Given the description of an element on the screen output the (x, y) to click on. 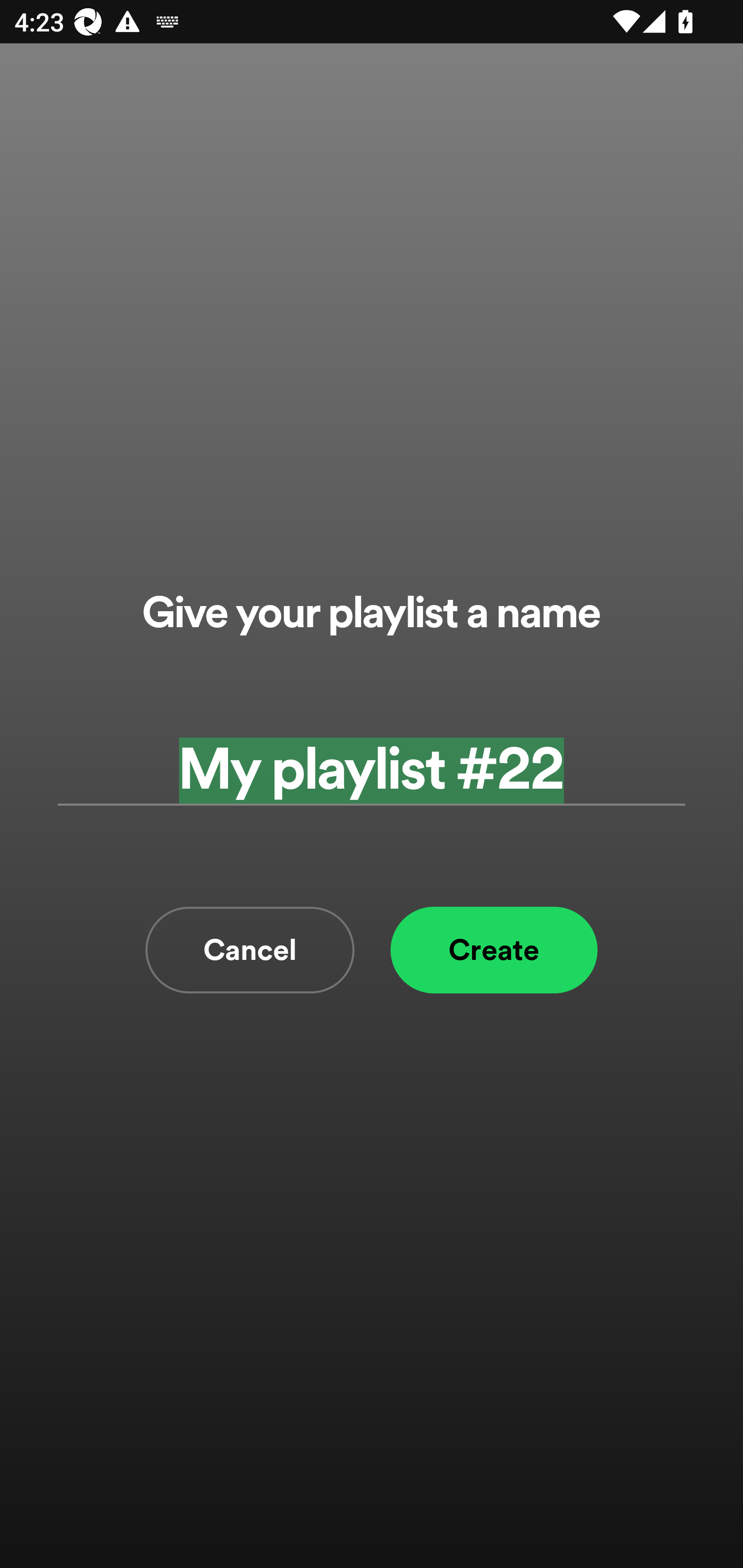
My playlist #22 Add a playlist name (371, 769)
Cancel (249, 950)
Create (493, 950)
